Given the description of an element on the screen output the (x, y) to click on. 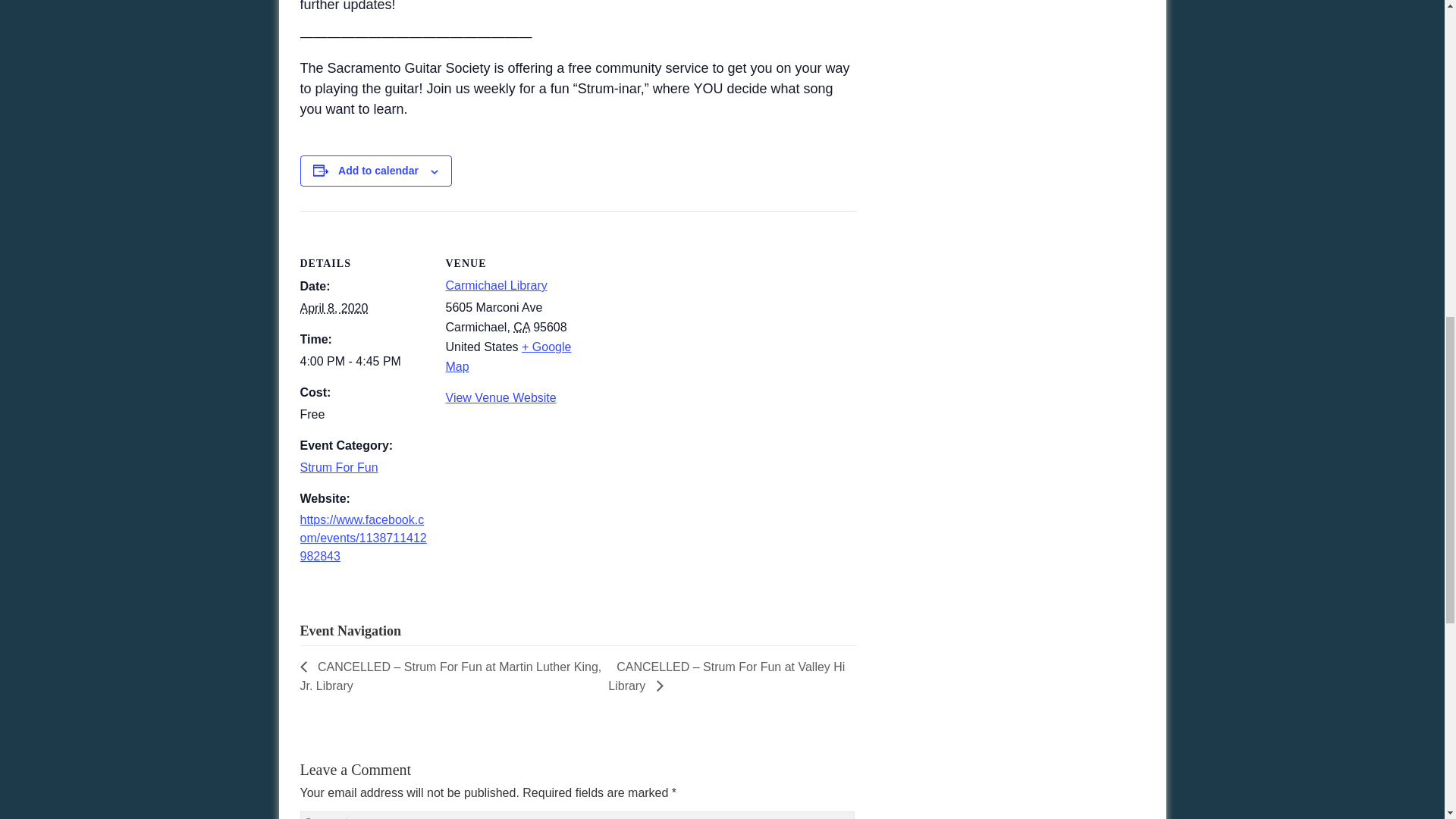
California (521, 327)
View Venue Website (500, 397)
Add to calendar (378, 170)
Carmichael Library (496, 285)
Strum For Fun (338, 467)
Click to view a Google Map (508, 356)
2020-04-08 (363, 361)
2020-04-08 (333, 308)
